Given the description of an element on the screen output the (x, y) to click on. 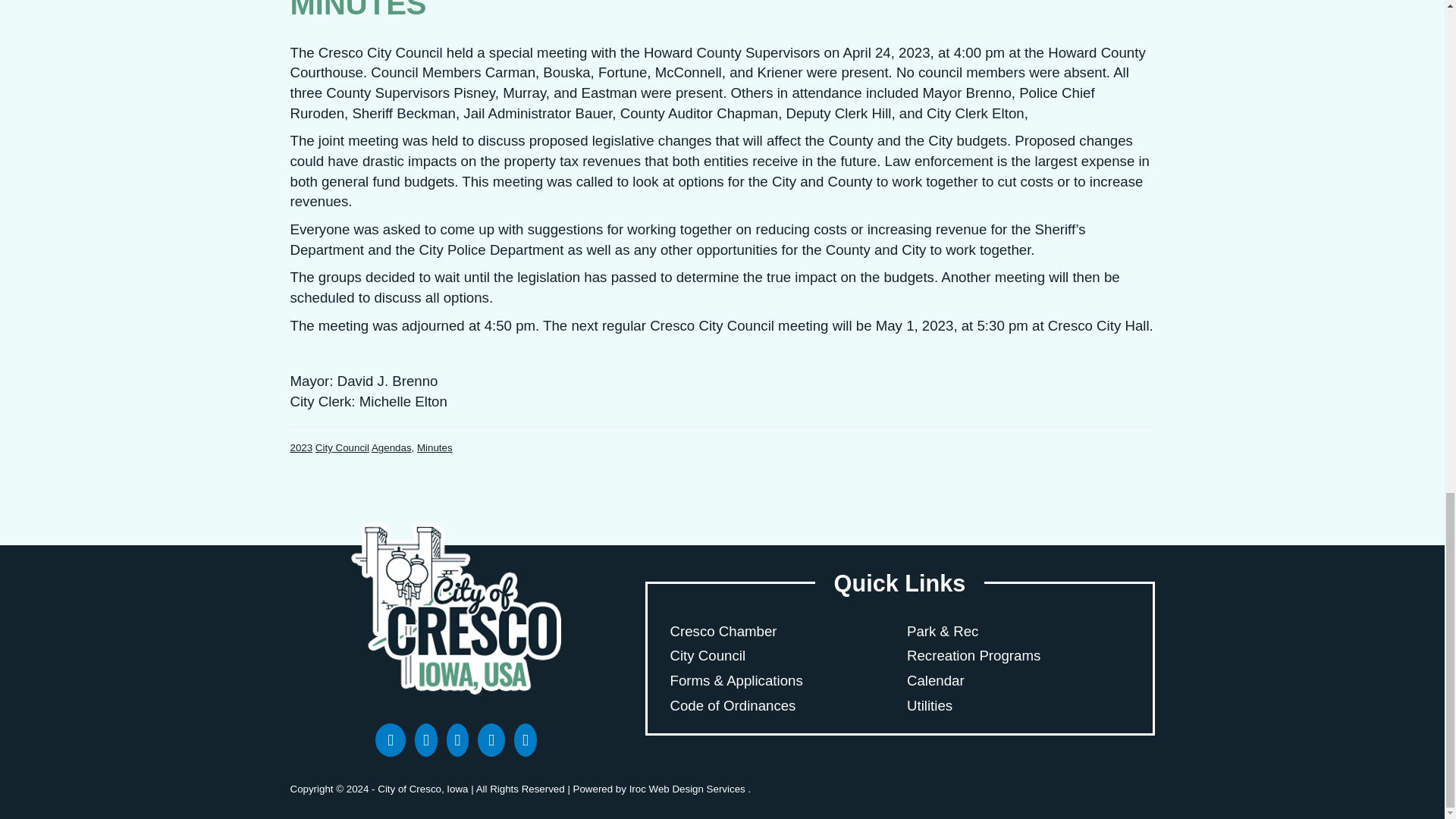
Cresco Logo (455, 608)
Iroc Web Design Services (688, 788)
